Given the description of an element on the screen output the (x, y) to click on. 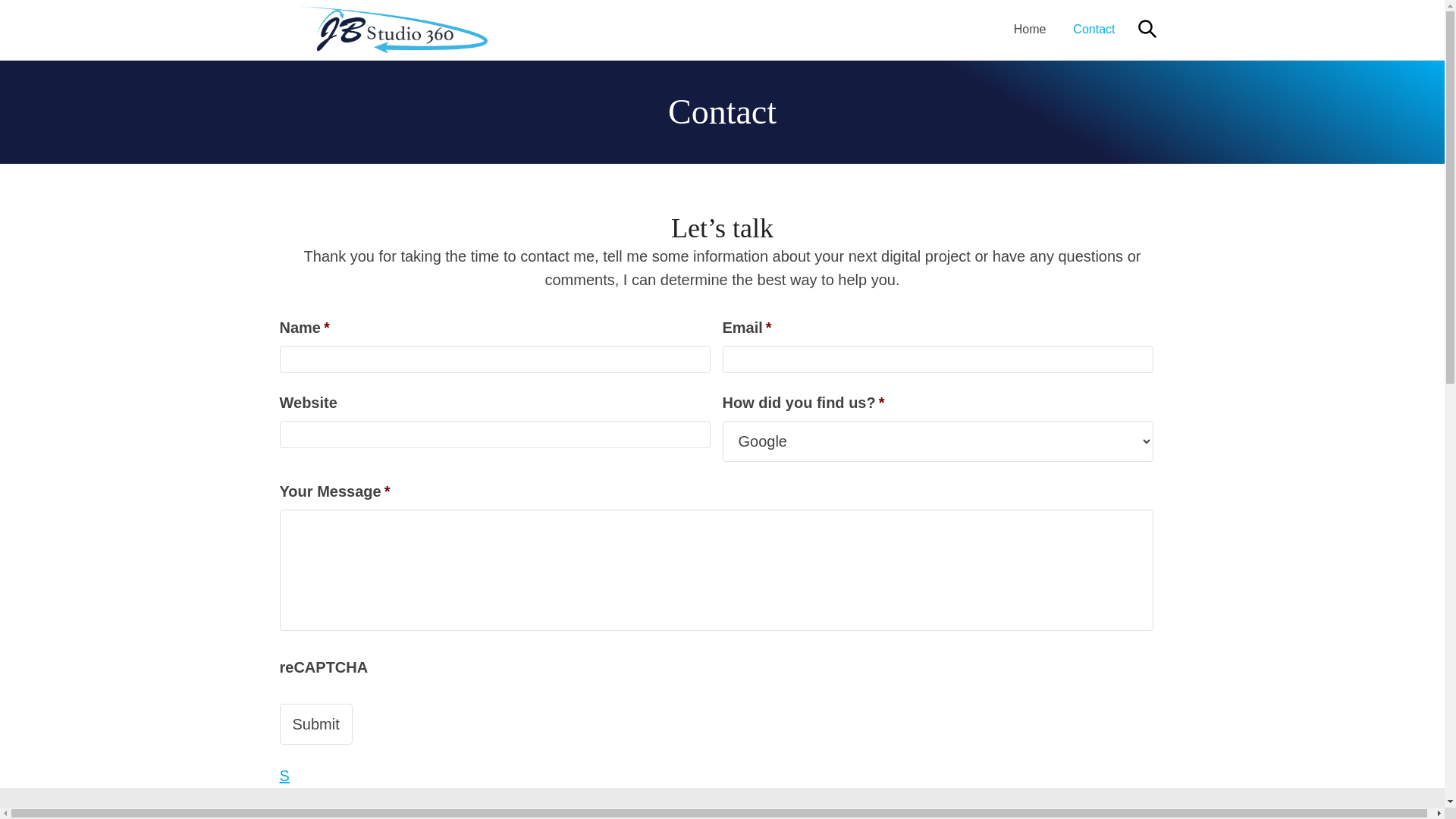
Home Element type: text (1030, 29)
JB Studio 360 Element type: text (392, 29)
Search Element type: text (1146, 28)
Submit Element type: text (315, 723)
Contact Element type: text (1093, 29)
S Element type: text (283, 775)
